Given the description of an element on the screen output the (x, y) to click on. 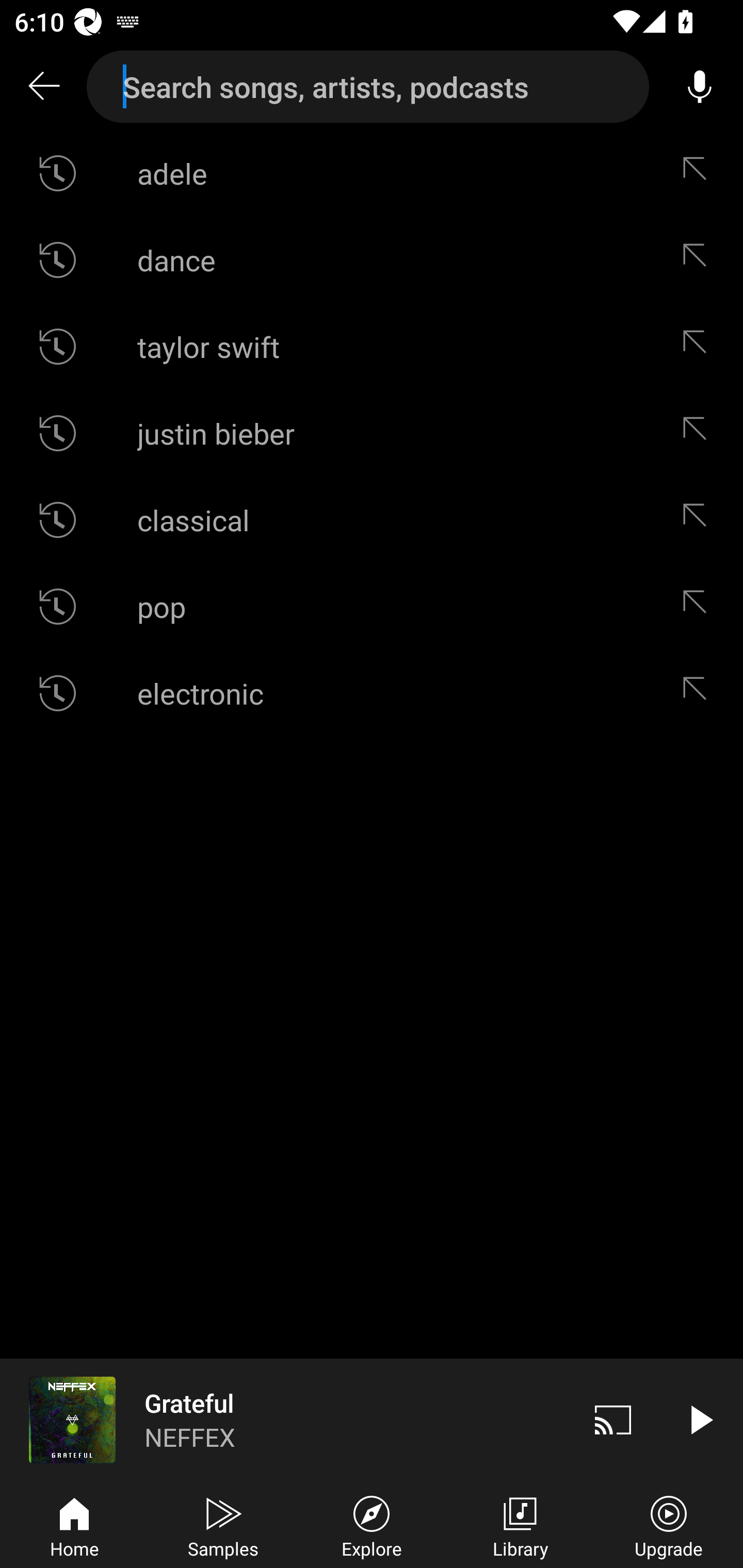
Search back (43, 86)
Search songs, artists, podcasts (367, 86)
Voice search (699, 86)
adele Edit suggestion adele (371, 173)
Edit suggestion adele (699, 173)
dance Edit suggestion dance (371, 259)
Edit suggestion dance (699, 259)
taylor swift Edit suggestion taylor swift (371, 346)
Edit suggestion taylor swift (699, 346)
justin bieber Edit suggestion justin bieber (371, 433)
Edit suggestion justin bieber (699, 433)
classical Edit suggestion classical (371, 519)
Edit suggestion classical (699, 519)
pop Edit suggestion pop (371, 605)
Edit suggestion pop (699, 605)
electronic Edit suggestion electronic (371, 692)
Edit suggestion electronic (699, 692)
Grateful NEFFEX (284, 1419)
Cast. Disconnected (612, 1419)
Play video (699, 1419)
Home (74, 1524)
Samples (222, 1524)
Explore (371, 1524)
Library (519, 1524)
Upgrade (668, 1524)
